Given the description of an element on the screen output the (x, y) to click on. 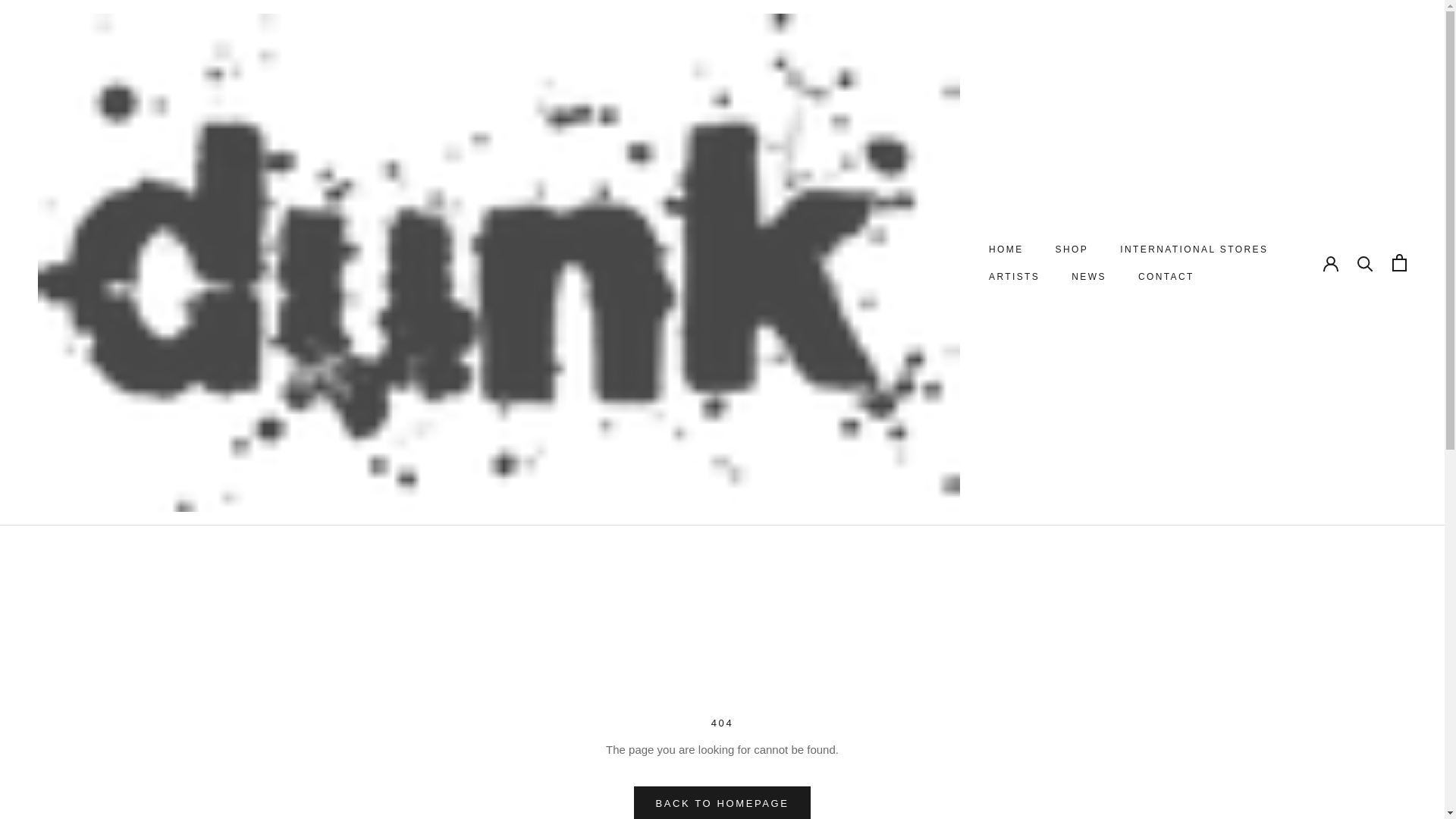
SHOP (1072, 249)
